Given the description of an element on the screen output the (x, y) to click on. 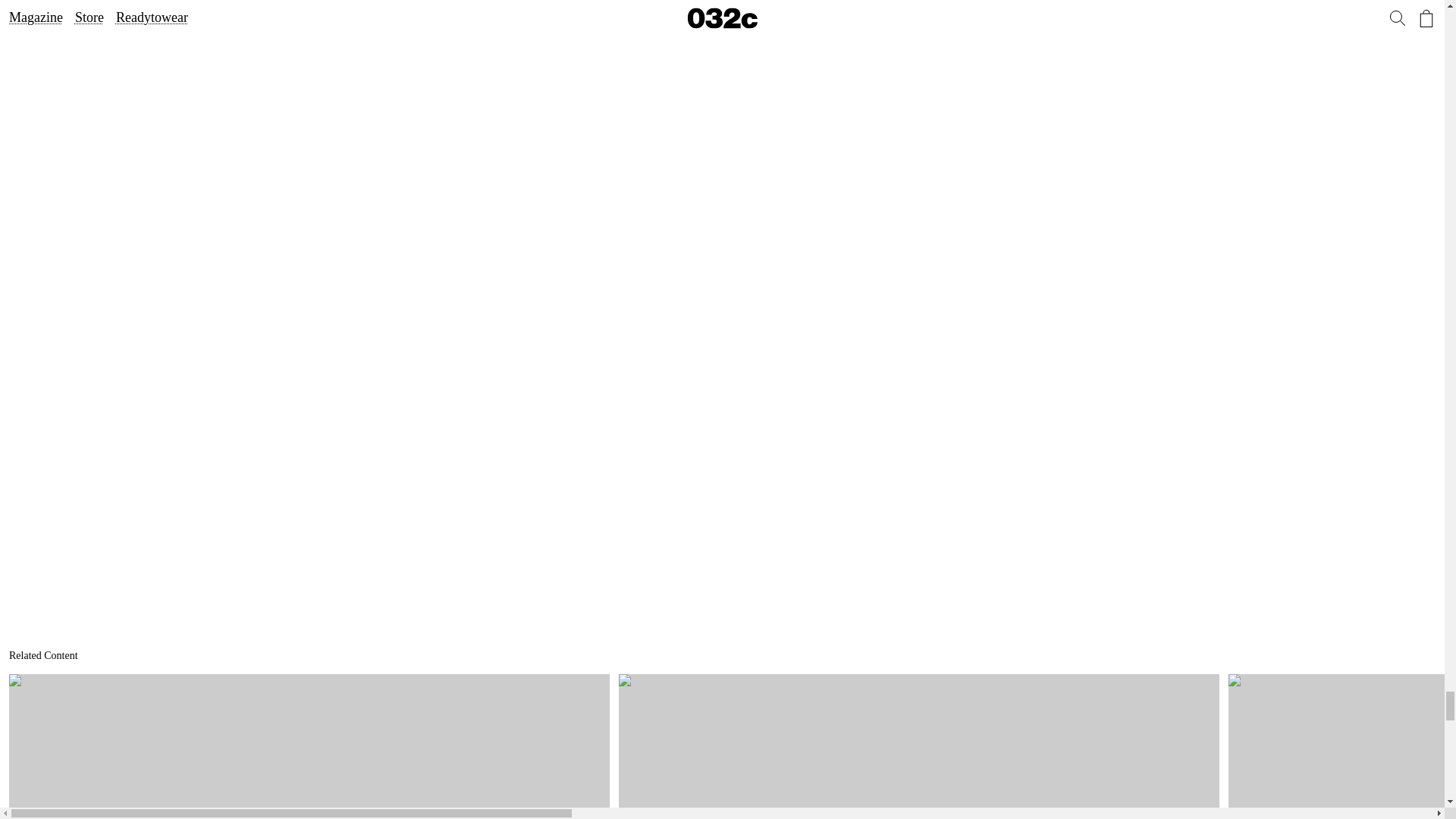
From Rags to Rags: RICK OWENS Inside Out (309, 746)
032c (309, 746)
032c (309, 746)
032c (1342, 746)
